Given the description of an element on the screen output the (x, y) to click on. 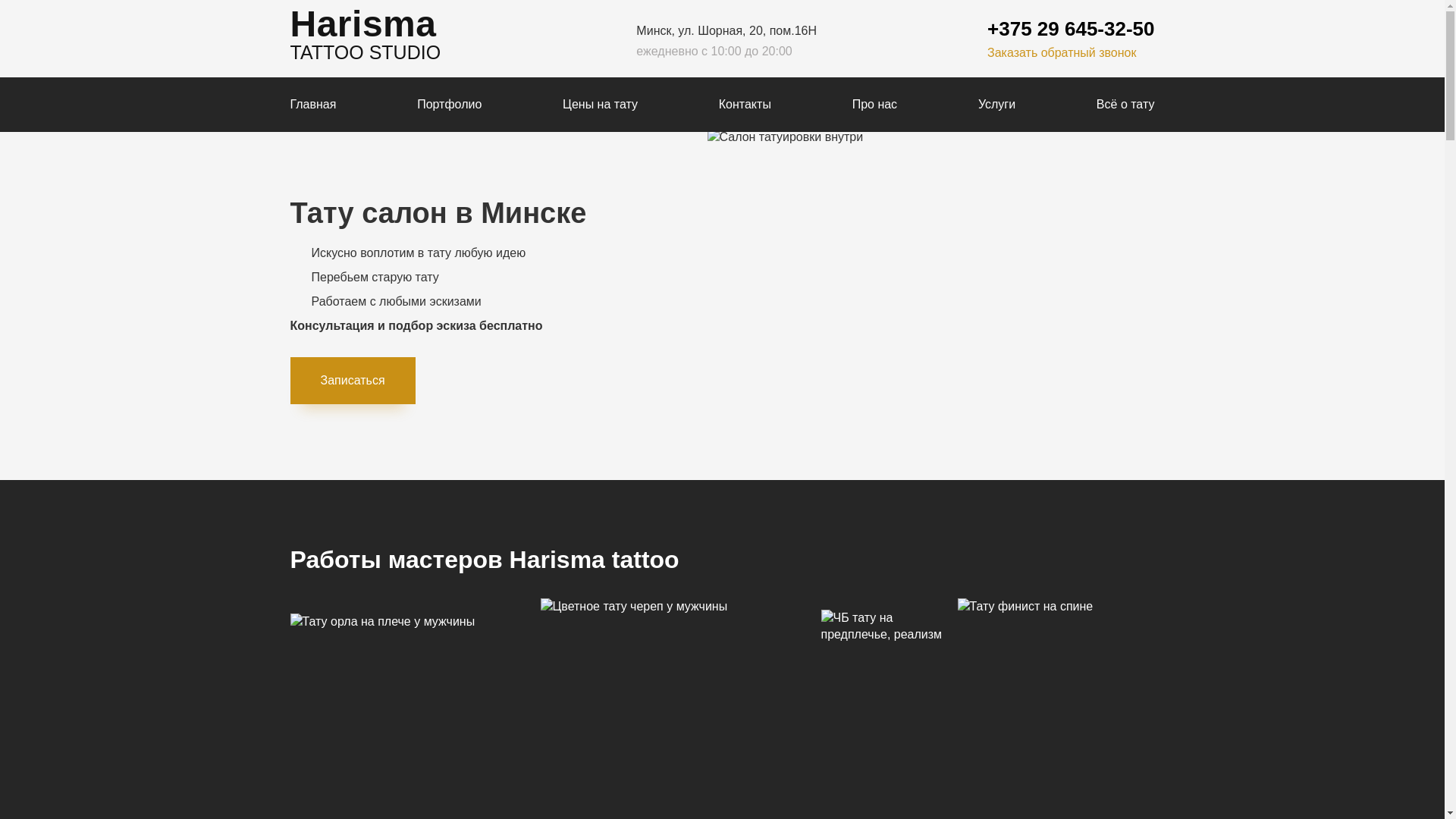
+375 29 645-32-50 Element type: text (1070, 28)
Harisma
TATTOO STUDIO Element type: text (364, 38)
